Given the description of an element on the screen output the (x, y) to click on. 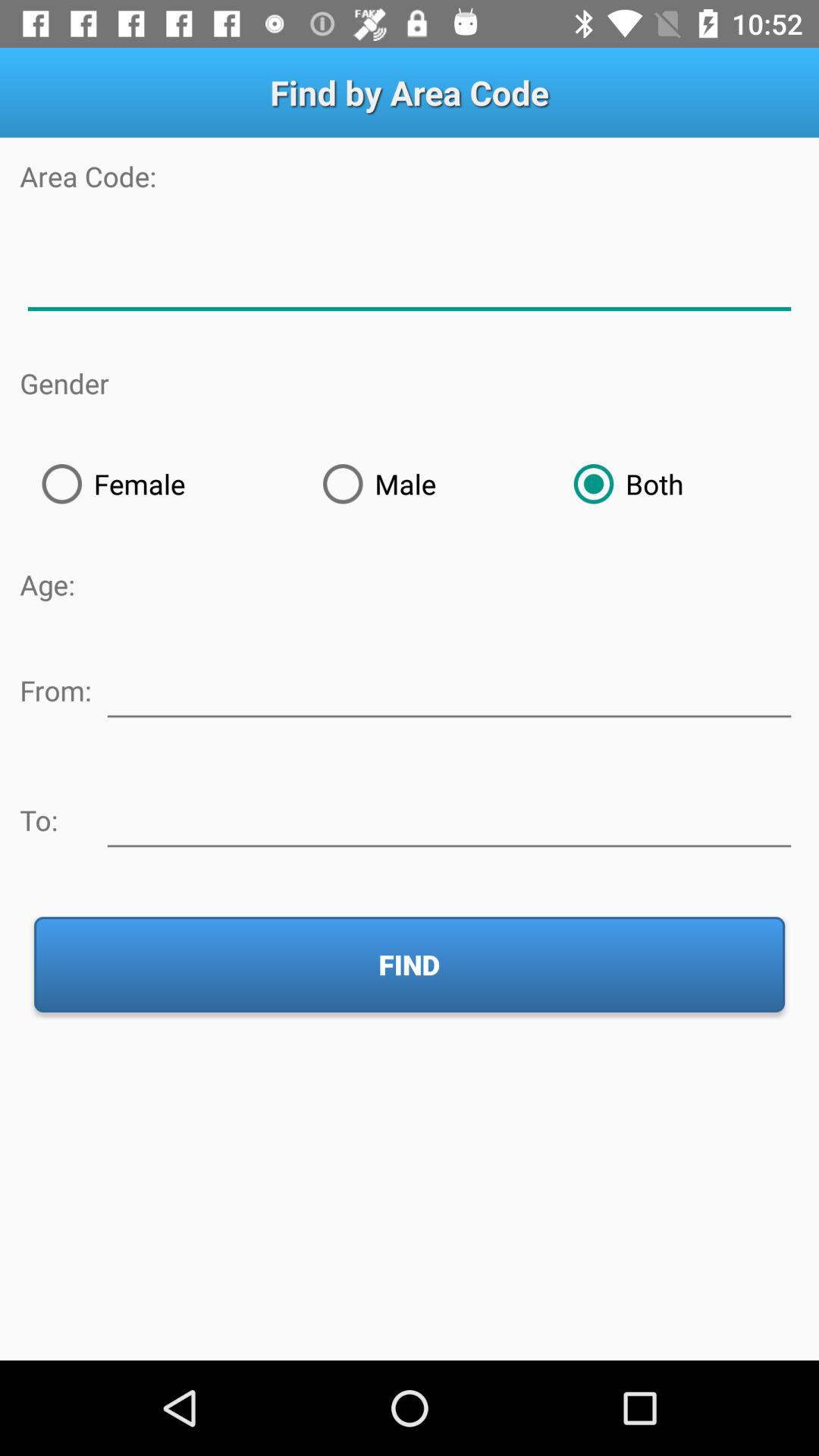
type the location to (449, 817)
